Given the description of an element on the screen output the (x, y) to click on. 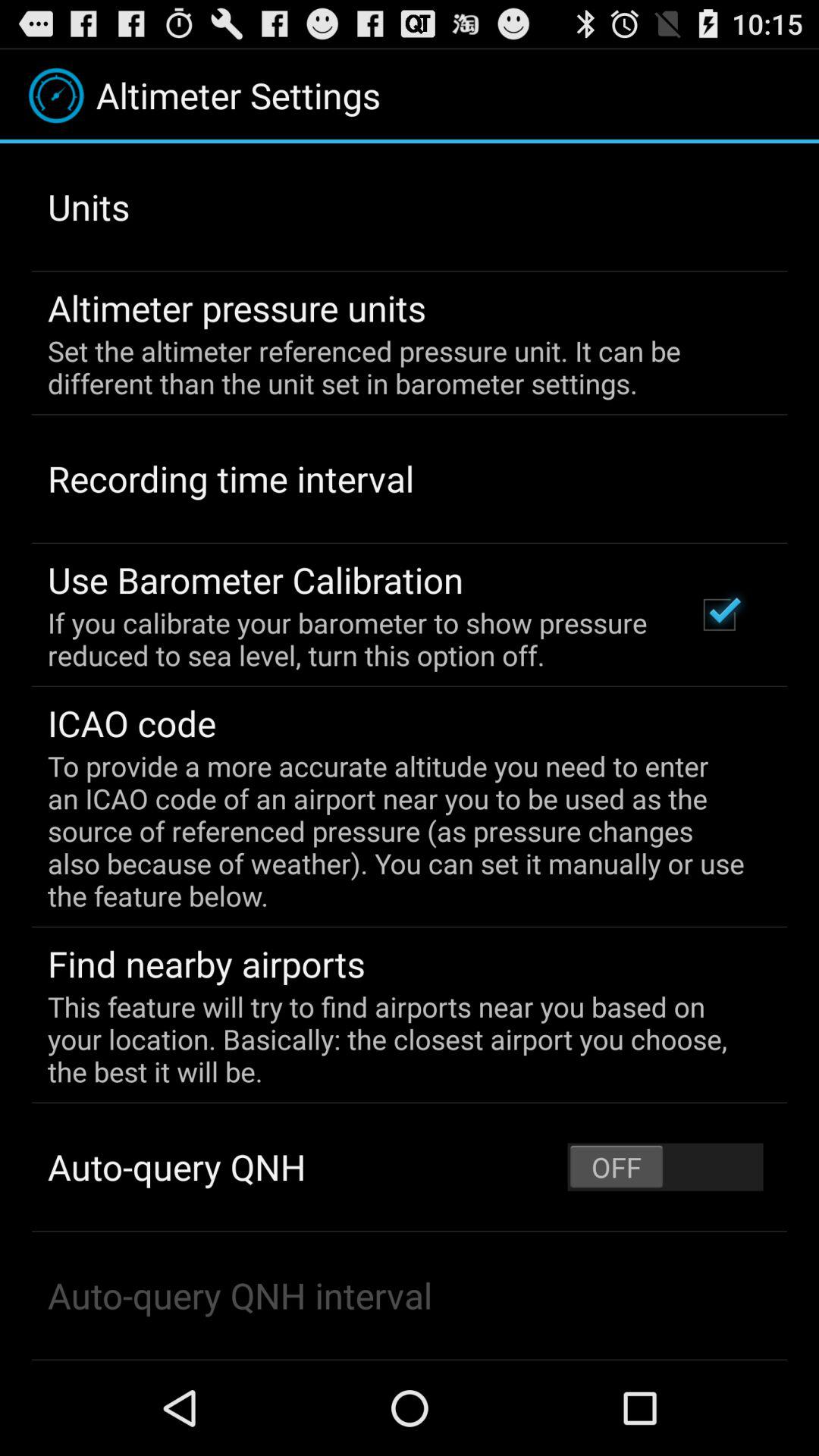
choose app to the right of the if you calibrate app (719, 614)
